Given the description of an element on the screen output the (x, y) to click on. 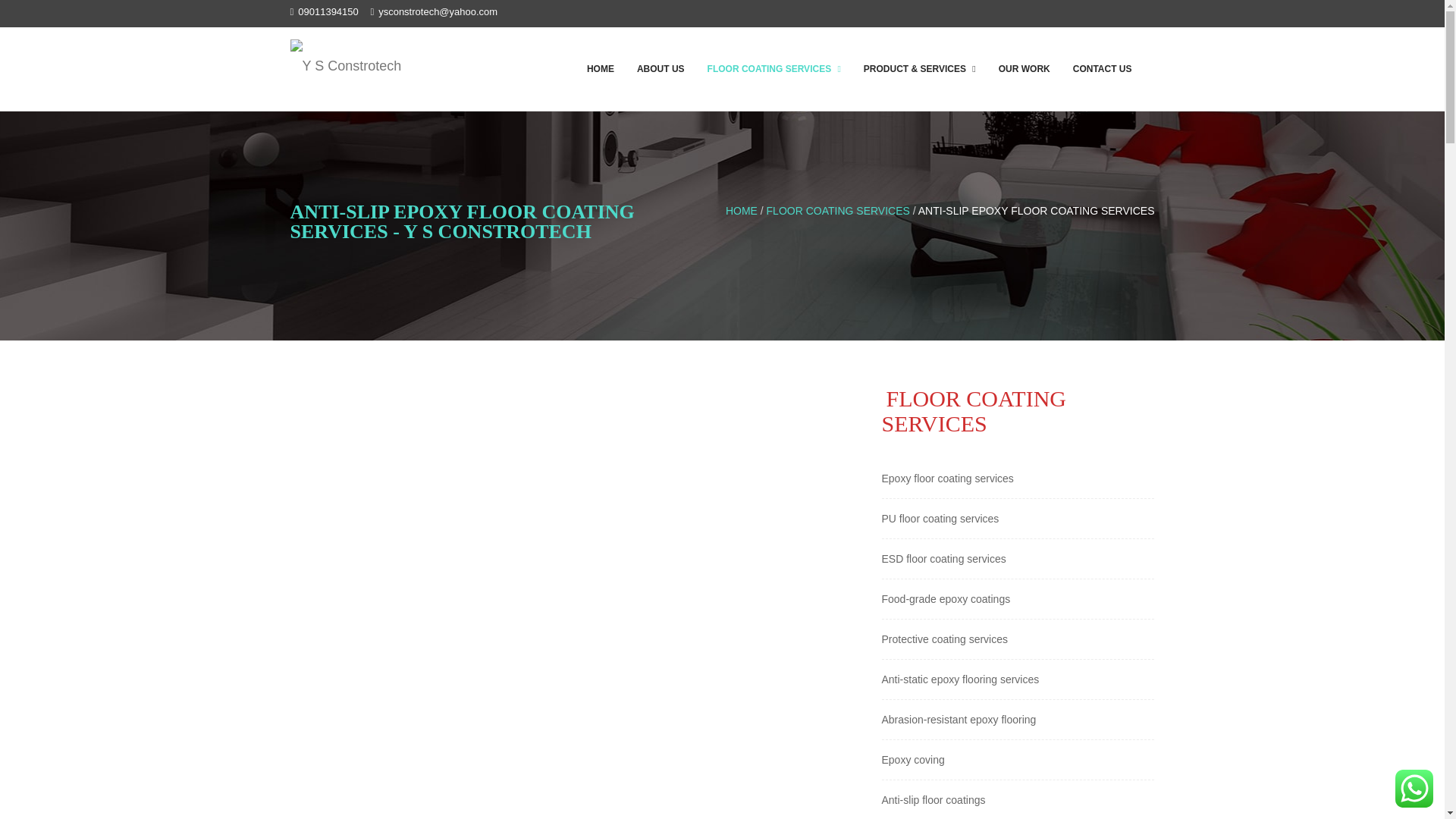
FLOOR COATING SERVICES (773, 68)
FLOOR COATING SERVICES (773, 68)
